Given the description of an element on the screen output the (x, y) to click on. 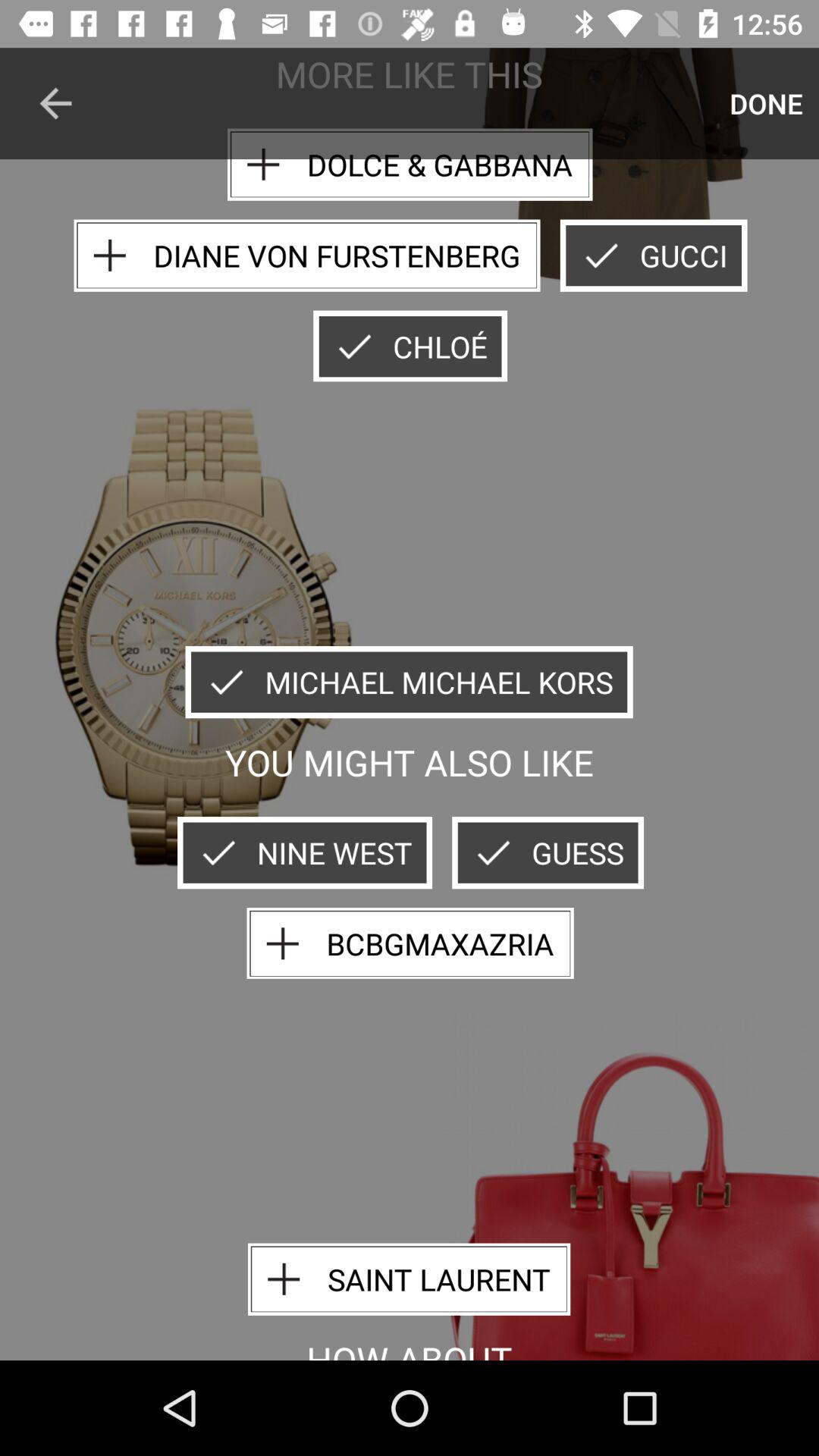
select the guess (547, 852)
